Given the description of an element on the screen output the (x, y) to click on. 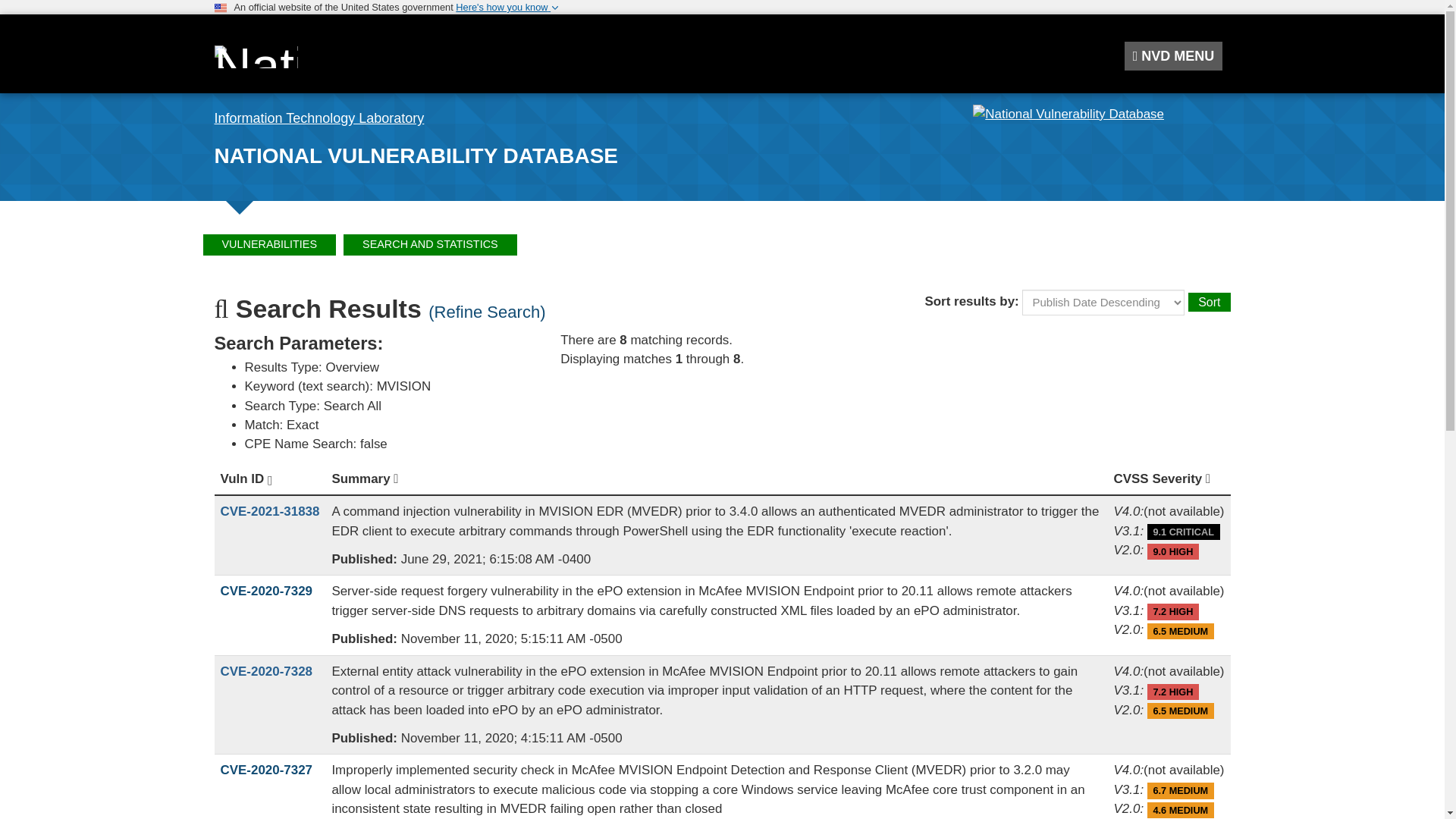
Here's how you know (506, 7)
NVD MENU (1173, 55)
